Given the description of an element on the screen output the (x, y) to click on. 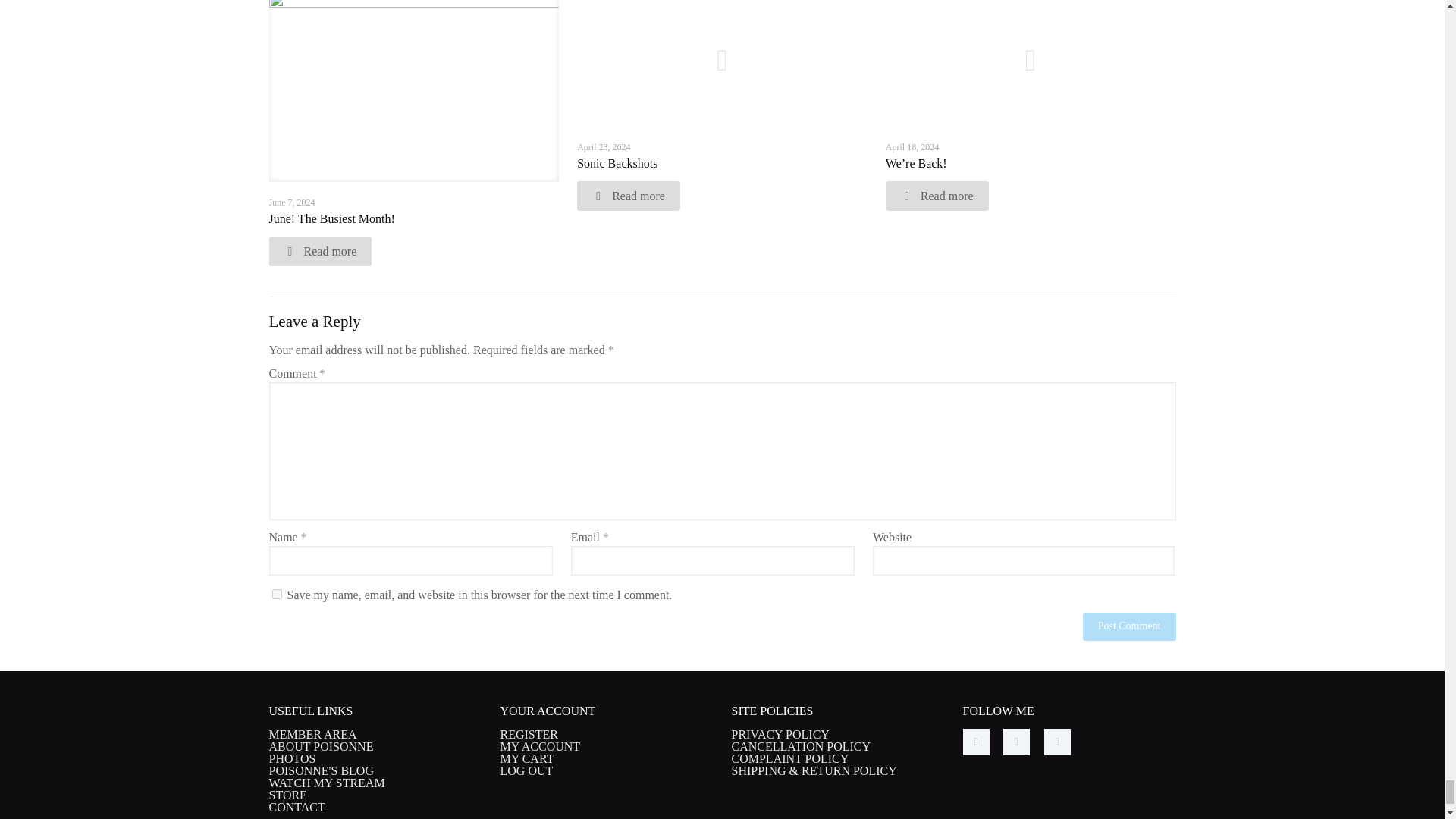
MEMBER AREA (311, 734)
PHOTOS (291, 758)
Post Comment (1129, 626)
yes (275, 593)
Read more (936, 195)
ABOUT POISONNE (319, 746)
Post Comment (1129, 626)
Read more (319, 251)
POISONNE'S BLOG (319, 770)
Read more (627, 195)
